Given the description of an element on the screen output the (x, y) to click on. 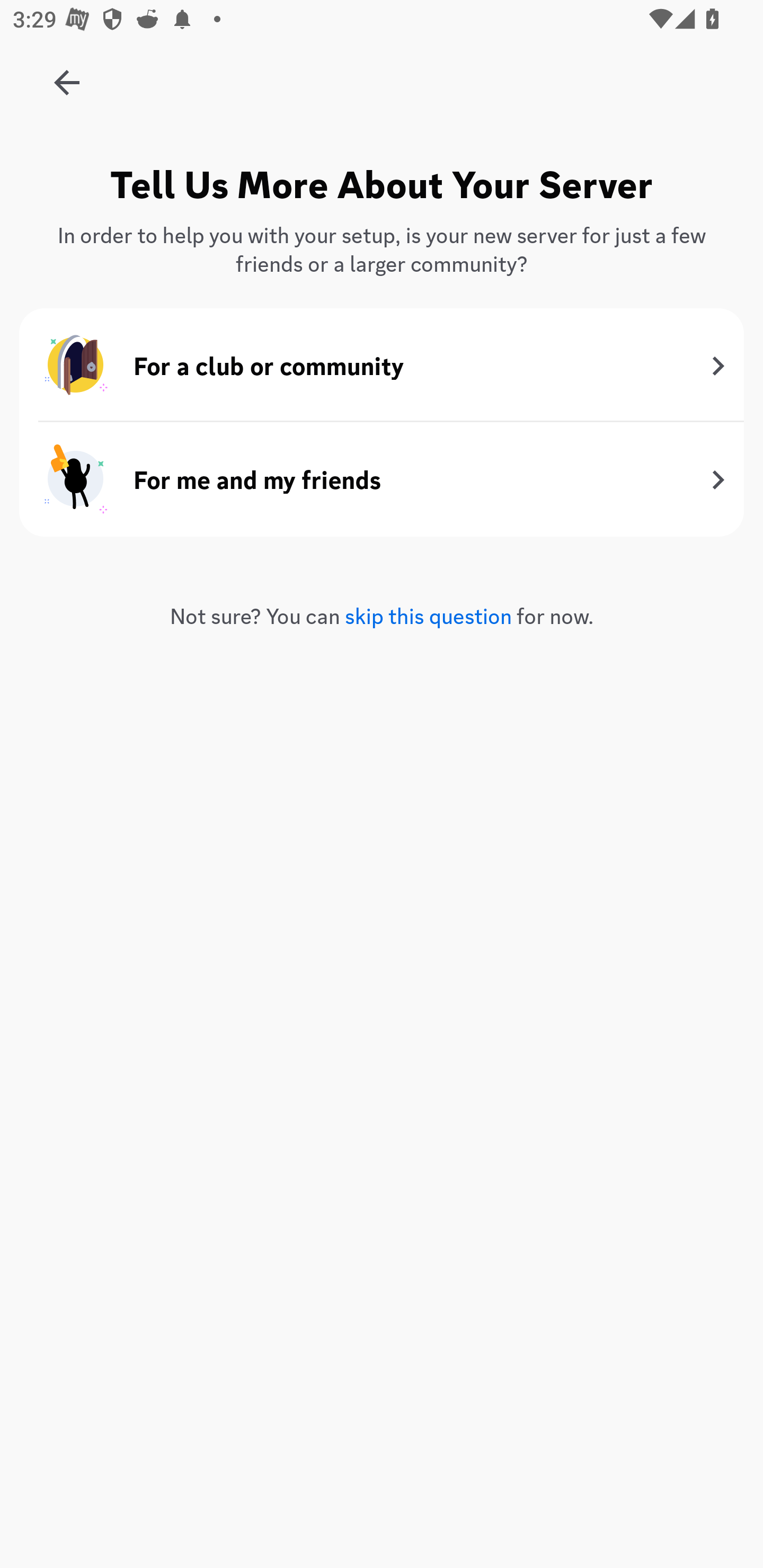
Add a Server (57, 75)
For a club or community (381, 365)
For me and my friends (381, 478)
